Given the description of an element on the screen output the (x, y) to click on. 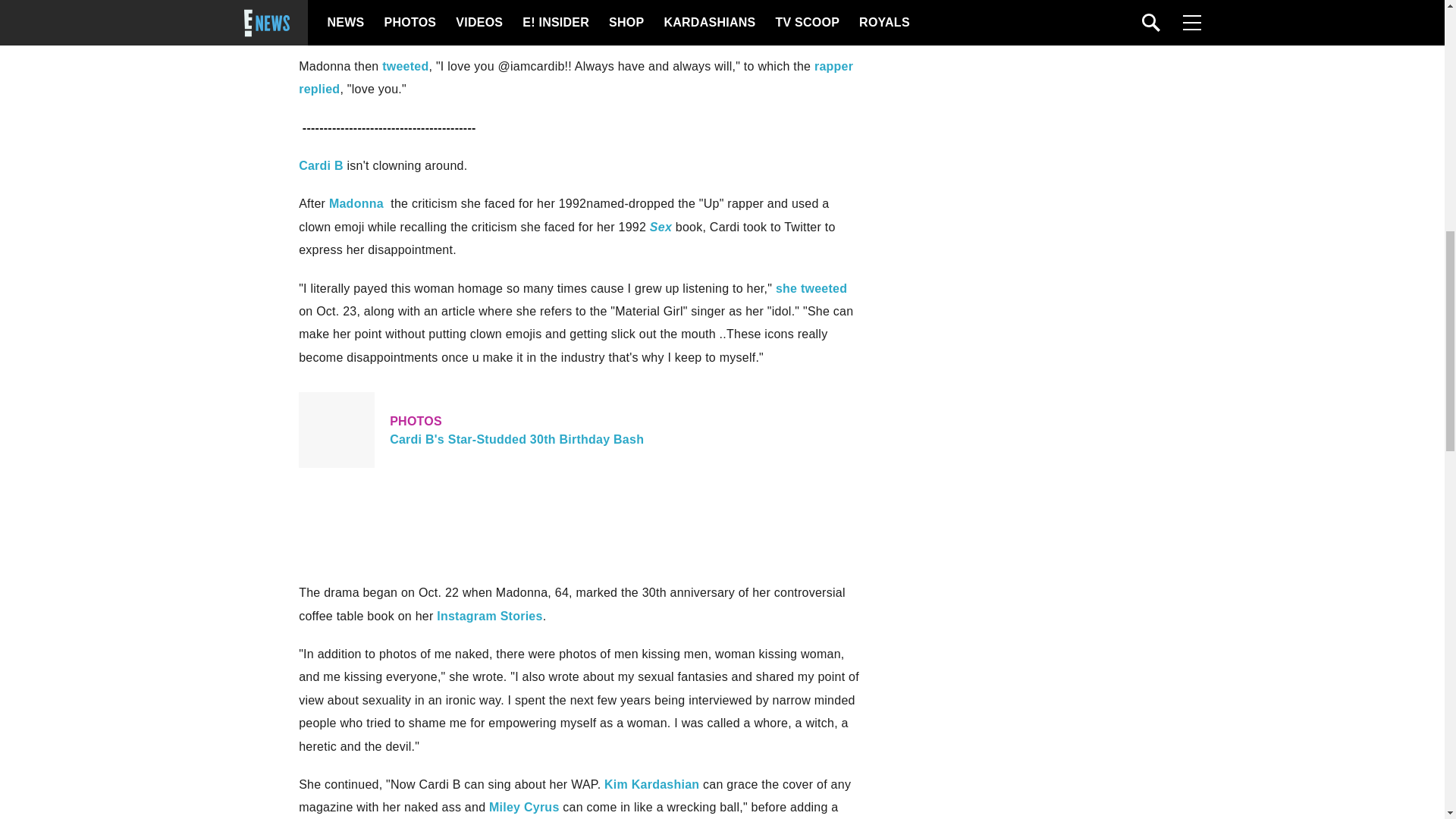
Madonna (356, 203)
Kim Kardashian (651, 784)
Cardi B (320, 164)
Instagram Stories (488, 615)
Sex (581, 429)
tweeted (660, 226)
Miley Cyrus (404, 65)
rapper replied (524, 807)
she tweeted (575, 77)
